Given the description of an element on the screen output the (x, y) to click on. 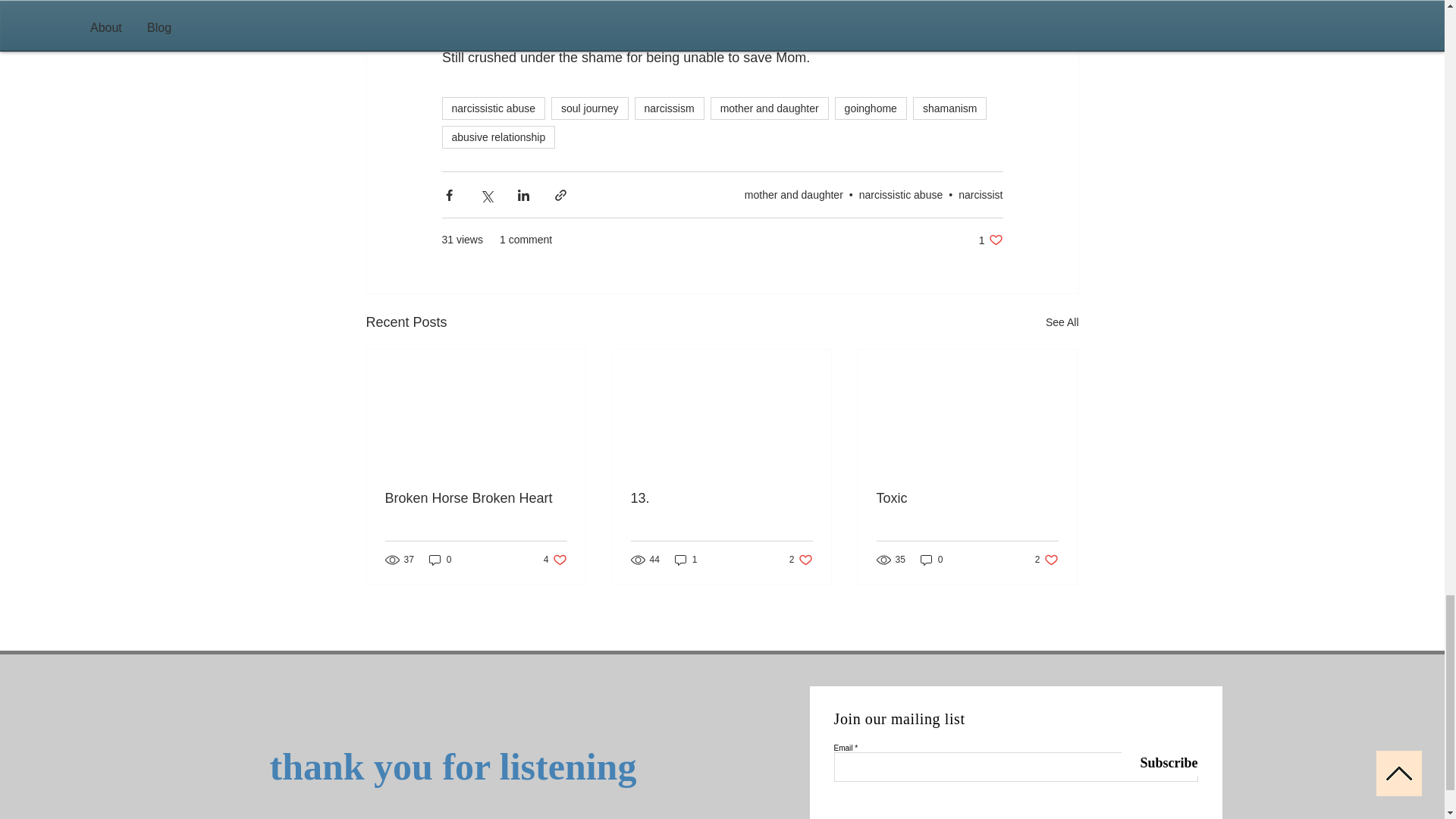
shamanism (949, 108)
mother and daughter (990, 239)
13. (769, 108)
narcissism (721, 498)
1 (800, 559)
narcissistic abuse (668, 108)
Toxic (685, 559)
soul journey (901, 193)
narcissistic abuse (555, 559)
narcissist (967, 498)
0 (589, 108)
mother and daughter (492, 108)
